Given the description of an element on the screen output the (x, y) to click on. 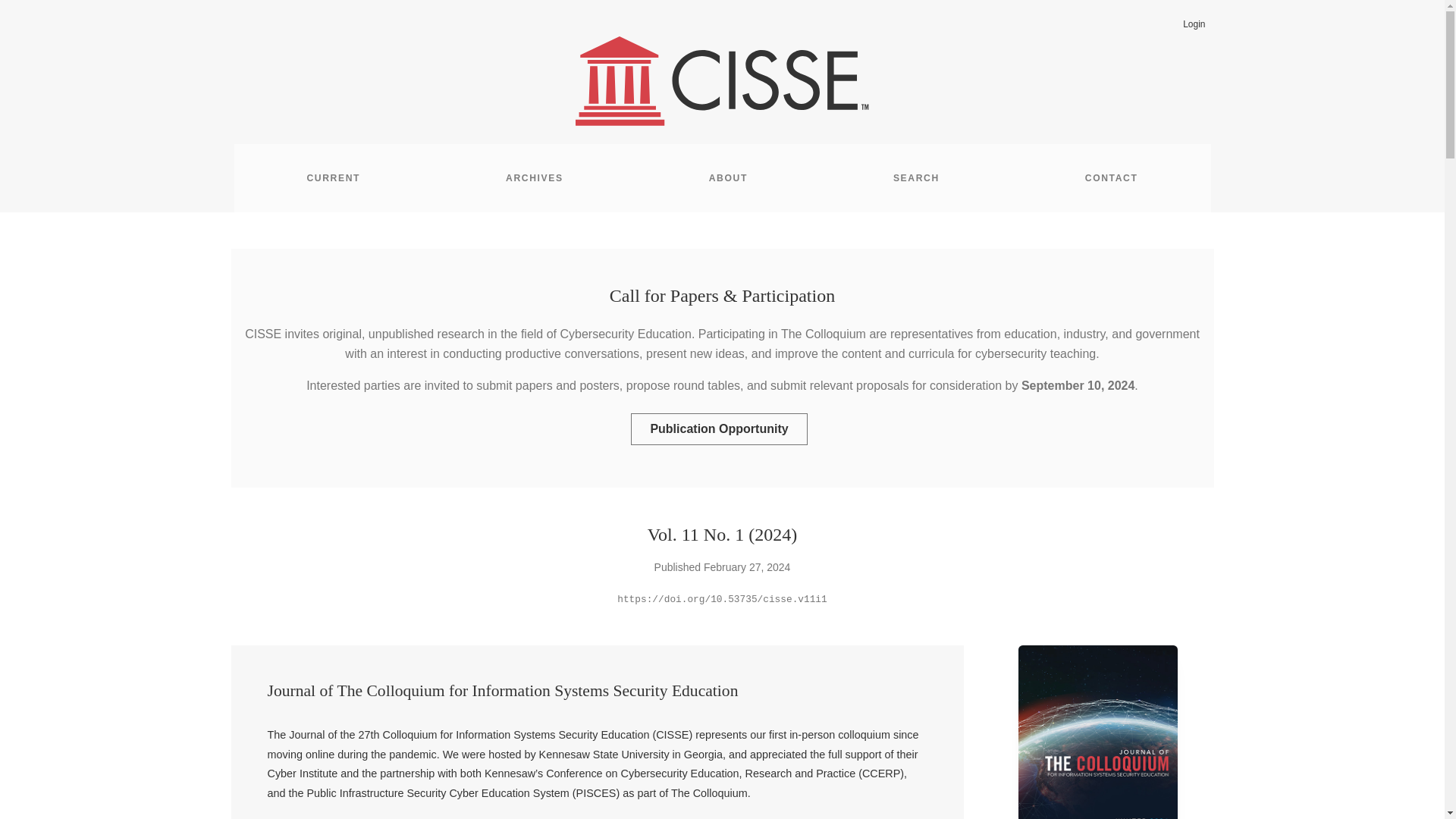
Publication Opportunity (718, 429)
Login (1193, 24)
ABOUT (727, 177)
CONTACT (1111, 177)
CURRENT (333, 177)
SEARCH (916, 177)
ARCHIVES (534, 177)
The Colloquium (823, 333)
